Given the description of an element on the screen output the (x, y) to click on. 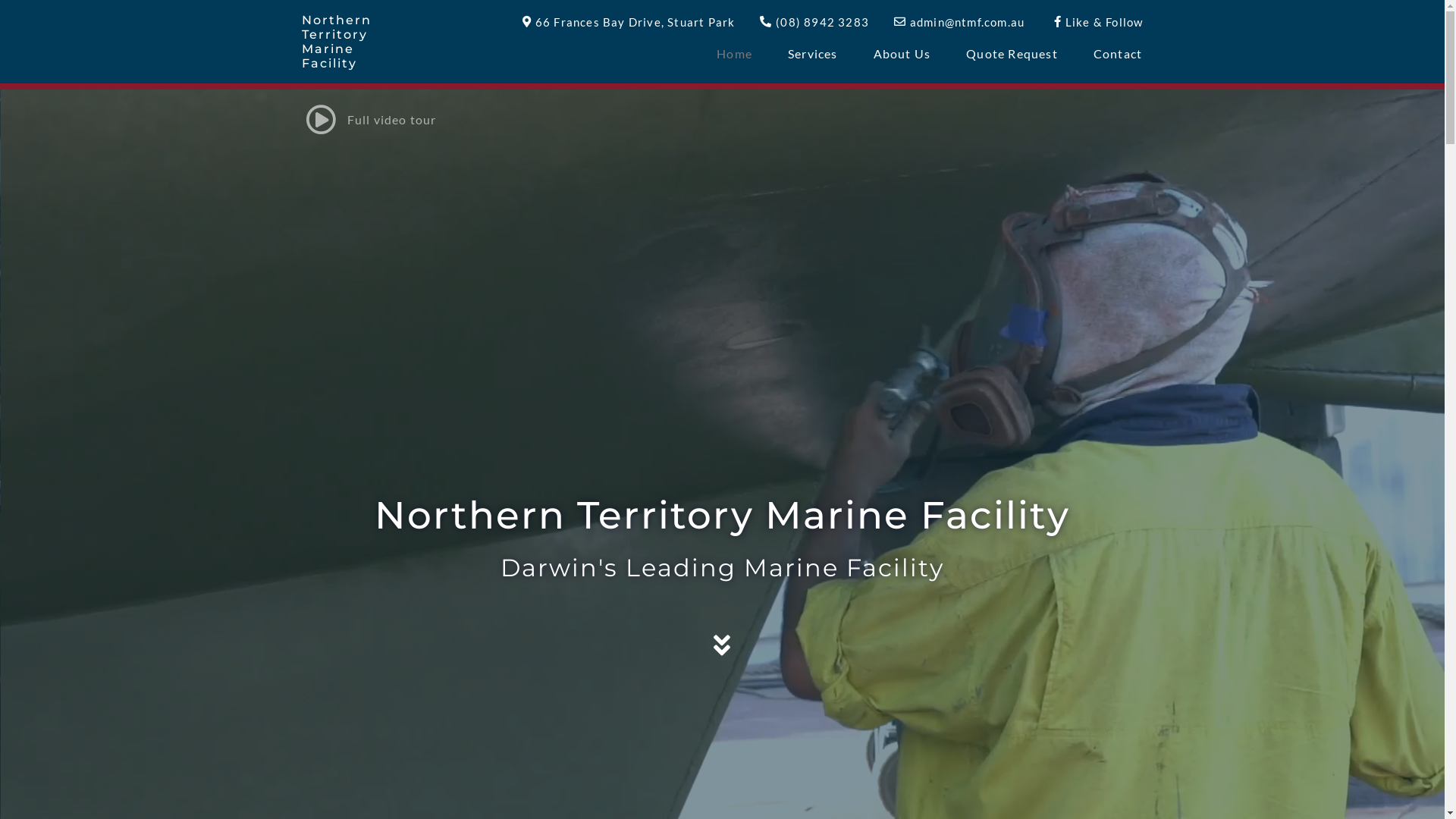
Services Element type: text (812, 53)
(08) 8942 3283 Element type: text (813, 21)
admin@ntmf.com.au Element type: text (957, 21)
Contact Element type: text (1117, 53)
Full video tour Element type: text (721, 119)
Home Element type: text (734, 53)
Northern
Territory
Marine
Facility Element type: text (336, 41)
66 Frances Bay Drive, Stuart Park Element type: text (625, 21)
Like & Follow Element type: text (1094, 21)
Quote Request Element type: text (1011, 53)
About Us Element type: text (902, 53)
